Given the description of an element on the screen output the (x, y) to click on. 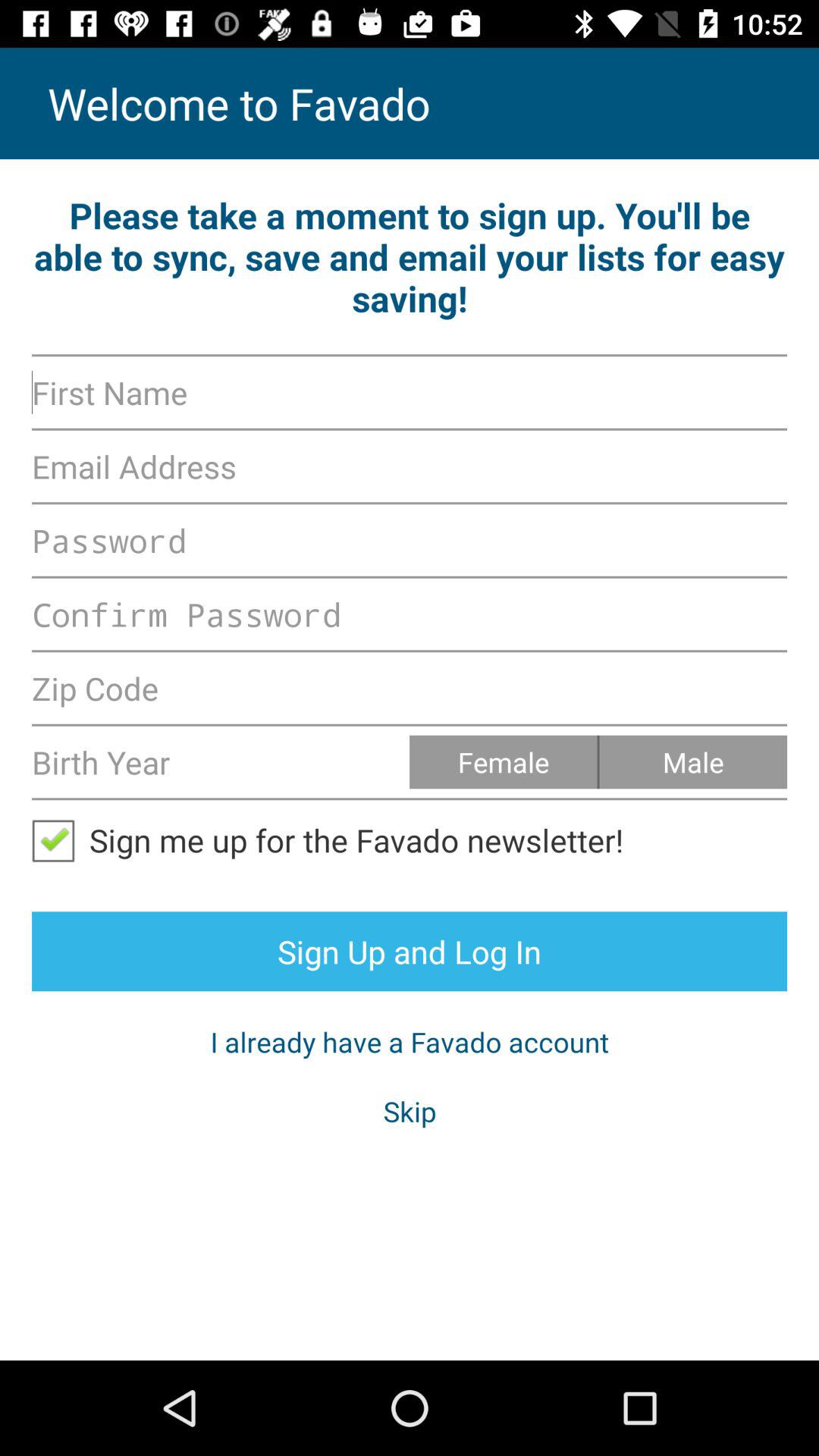
enter password (409, 614)
